Given the description of an element on the screen output the (x, y) to click on. 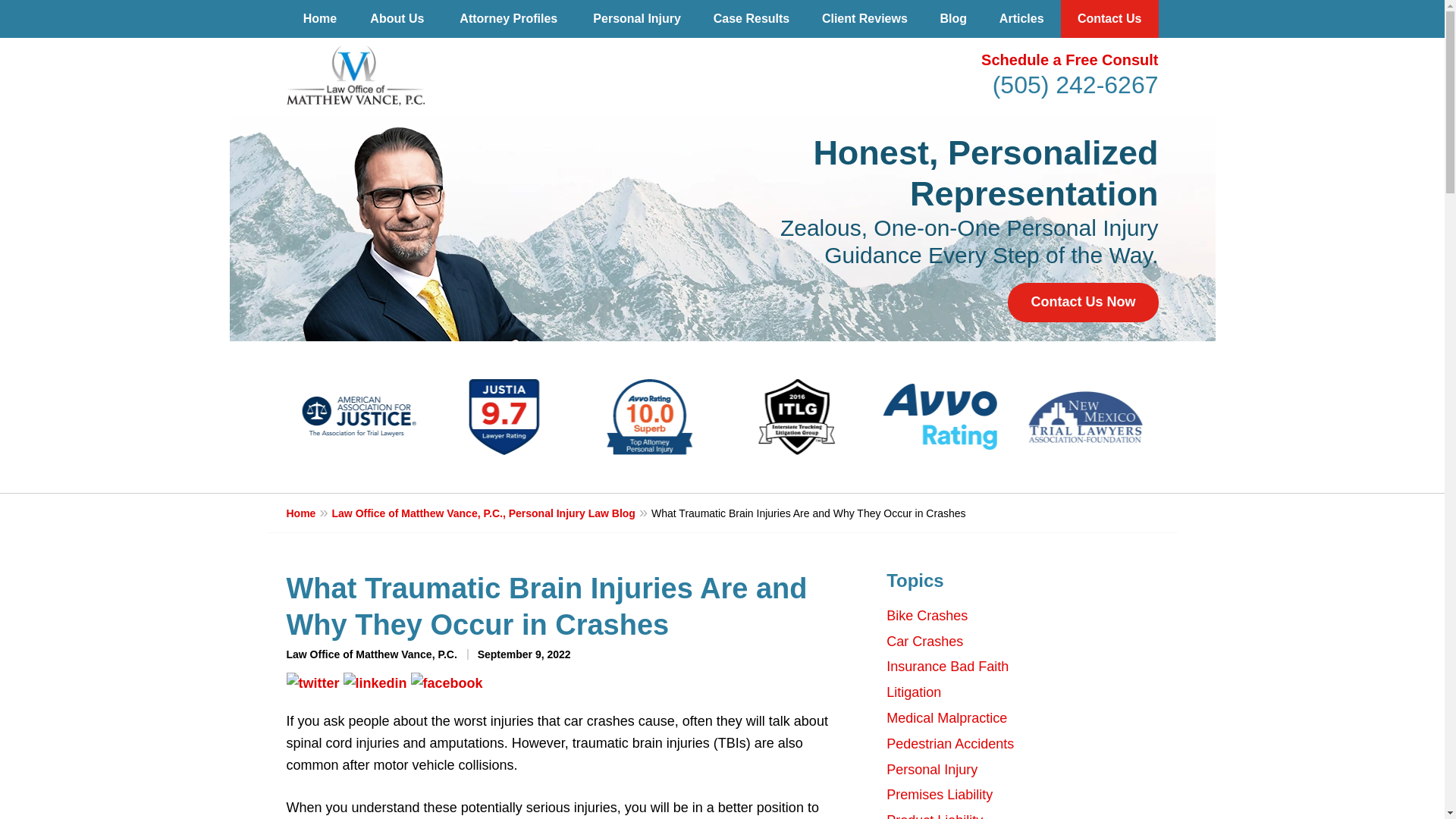
Schedule a Free Consult (1069, 59)
Home (308, 513)
Law Office of Matthew Vance, P.C., Personal Injury Law Blog (491, 513)
Personal Injury (636, 18)
Contact Us (1109, 18)
Bike Crashes (927, 615)
Client Reviews (864, 18)
Contact Us Now (1082, 302)
Case Results (751, 18)
Attorney Profiles (508, 18)
